Given the description of an element on the screen output the (x, y) to click on. 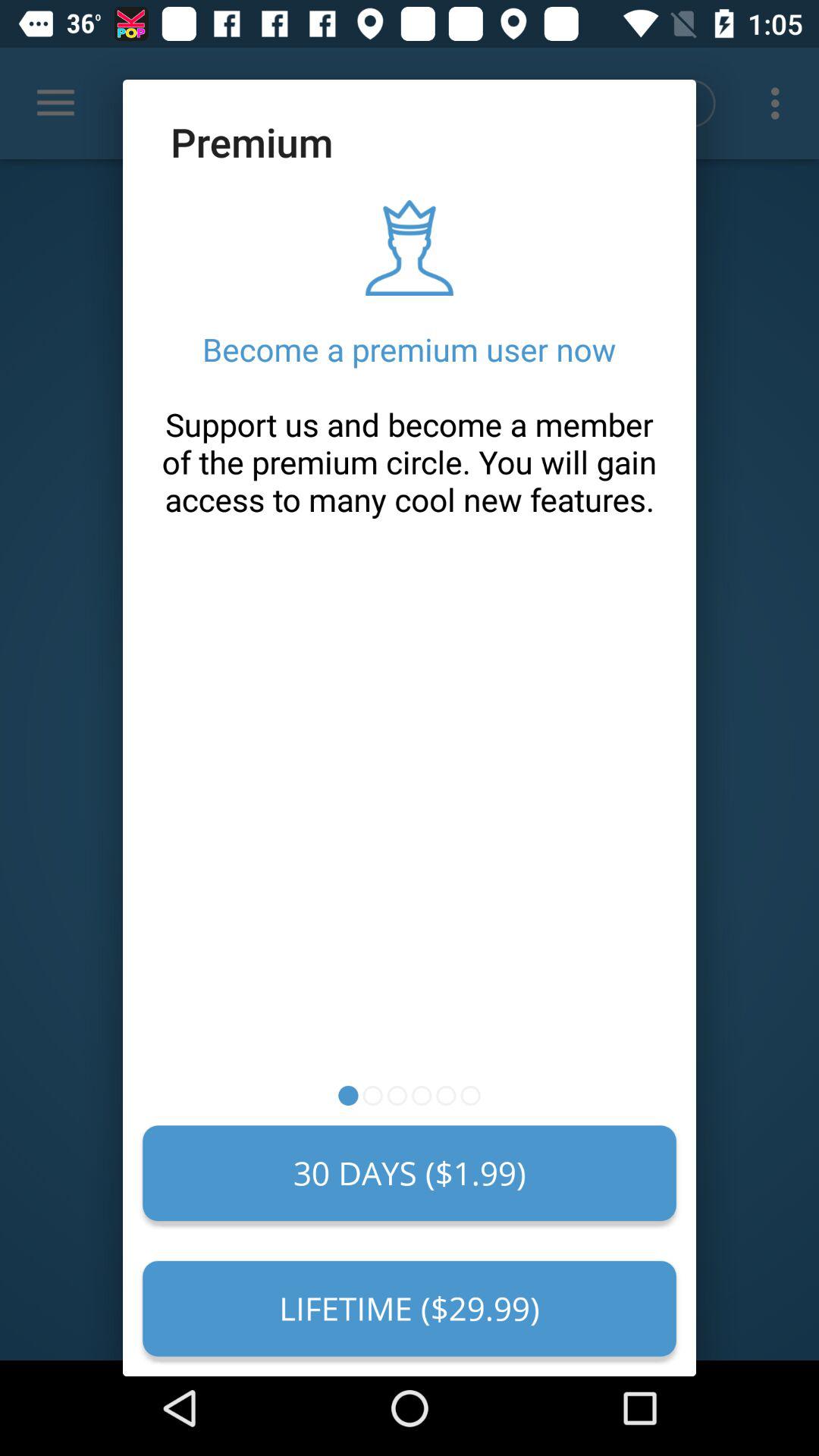
scroll until lifetime ($29.99) item (409, 1308)
